Given the description of an element on the screen output the (x, y) to click on. 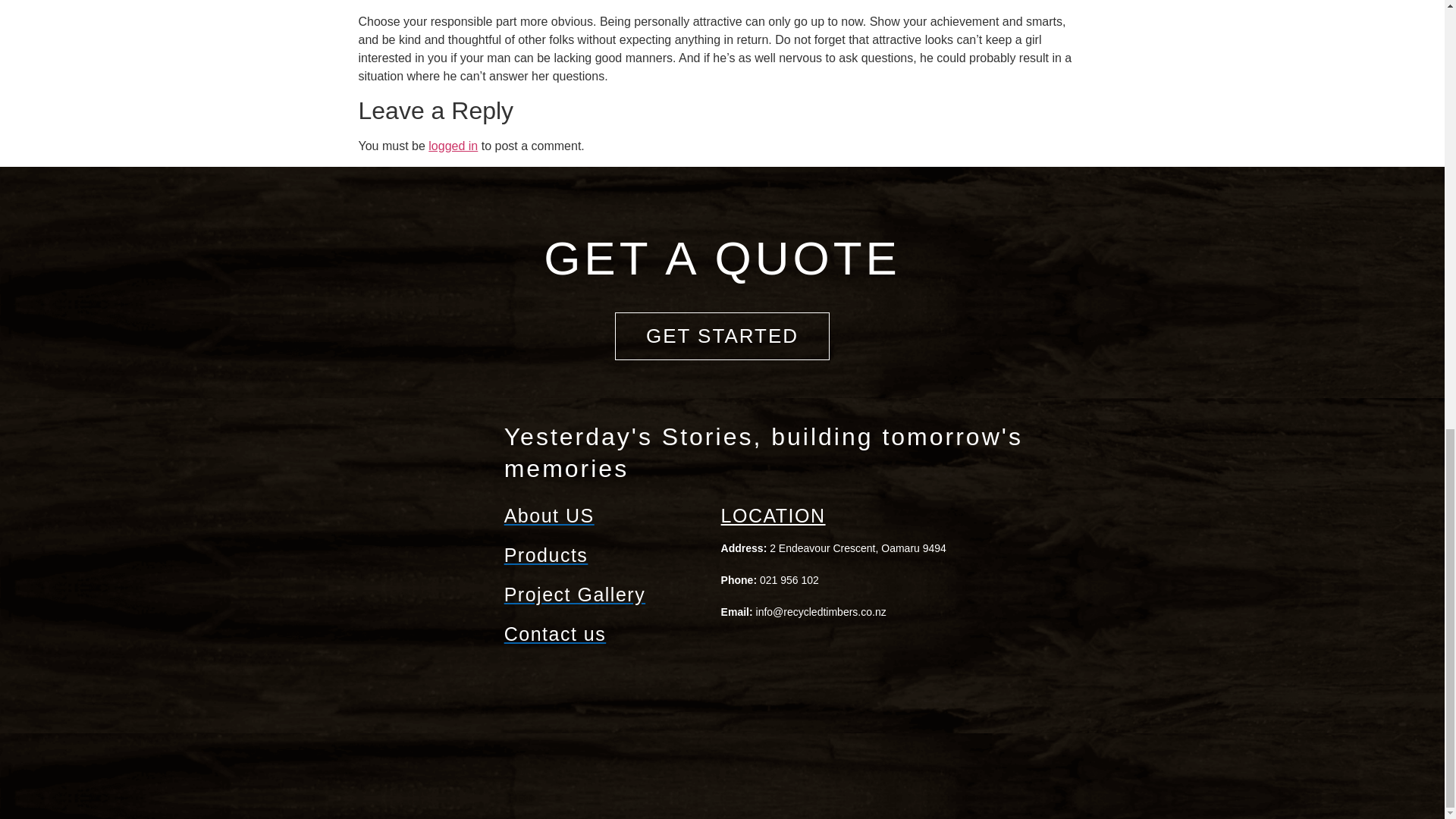
Project Gallery (604, 594)
logged in (452, 145)
About US (604, 515)
Products (604, 555)
Contact us (604, 633)
GET STARTED (721, 336)
